Given the description of an element on the screen output the (x, y) to click on. 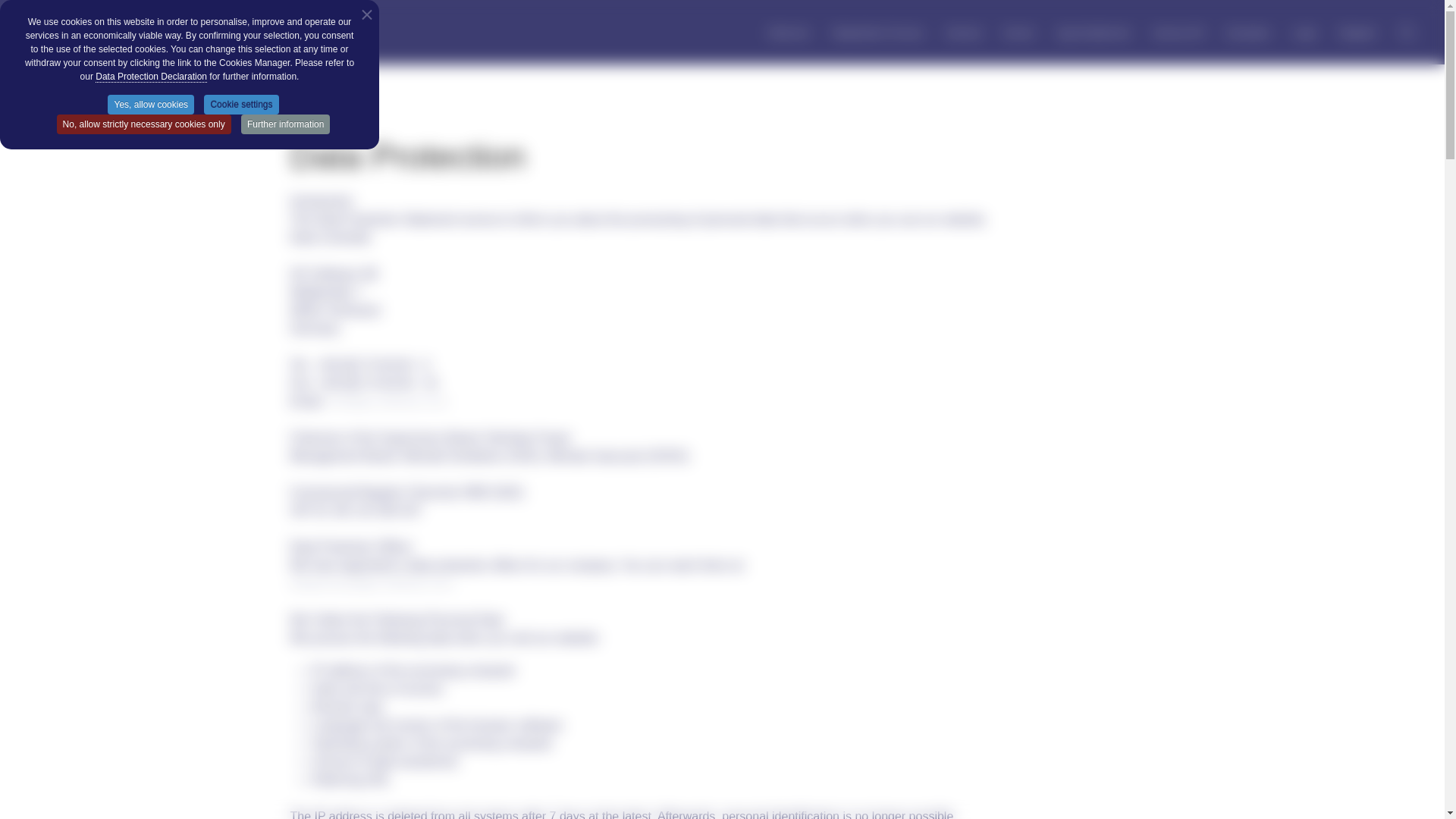
Login (1304, 35)
Service API (1177, 35)
App-Enablement (1093, 35)
Examples (1248, 35)
Registration Process (877, 35)
Welcome (789, 35)
Register (1358, 35)
General (963, 35)
Events (1019, 35)
